Given the description of an element on the screen output the (x, y) to click on. 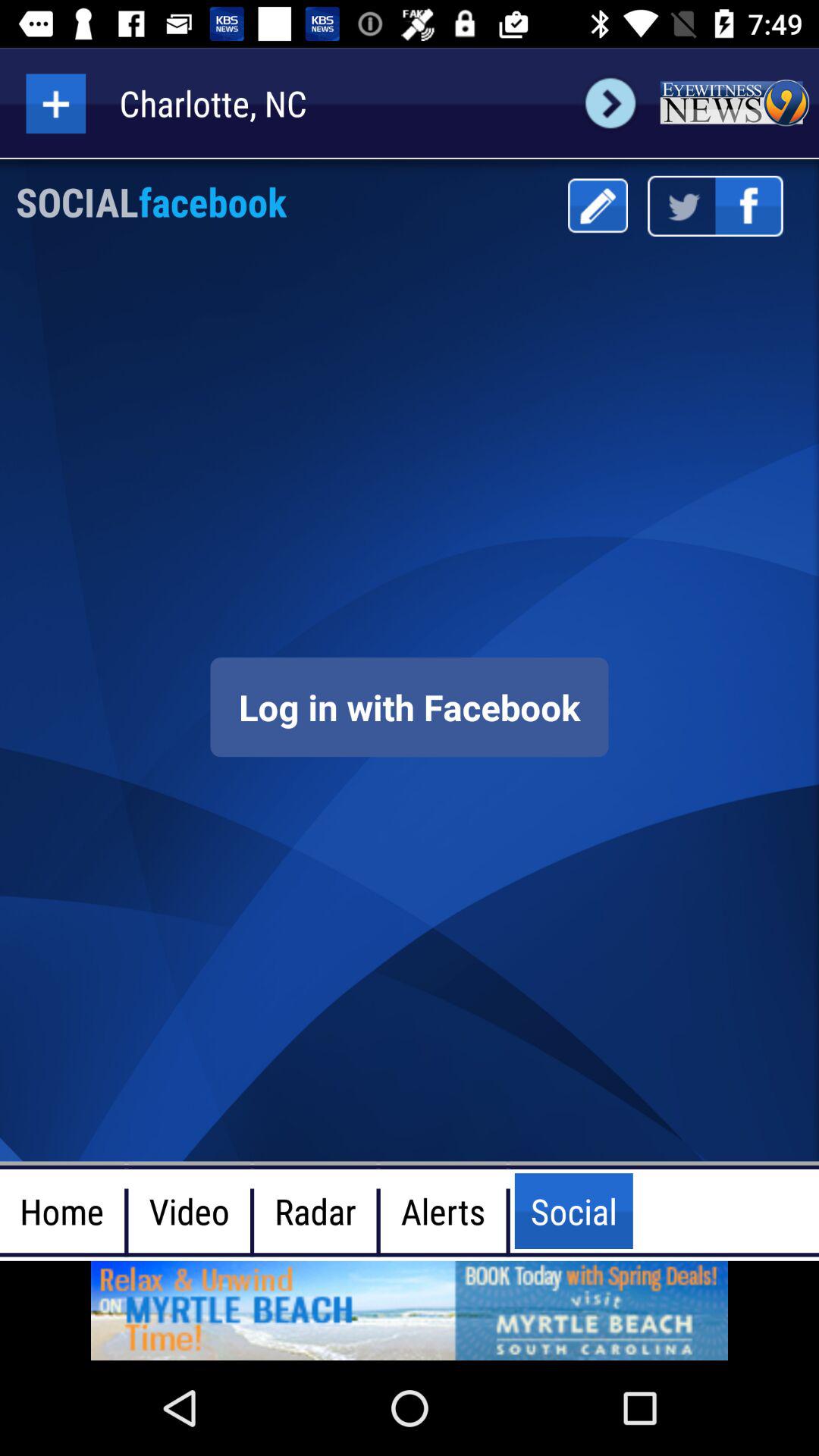
go to app home page (734, 103)
